Given the description of an element on the screen output the (x, y) to click on. 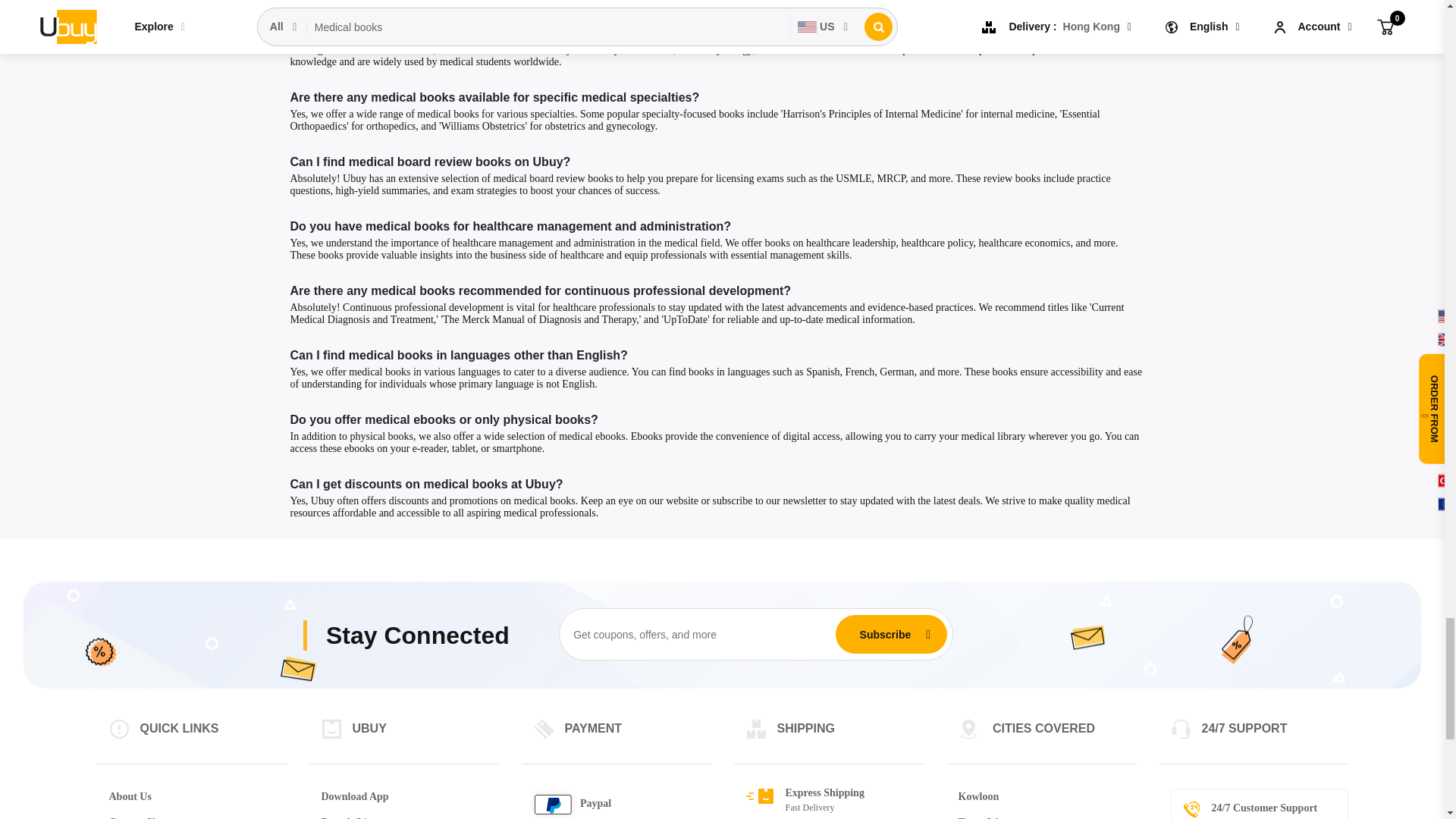
Subscribe (885, 634)
